Given the description of an element on the screen output the (x, y) to click on. 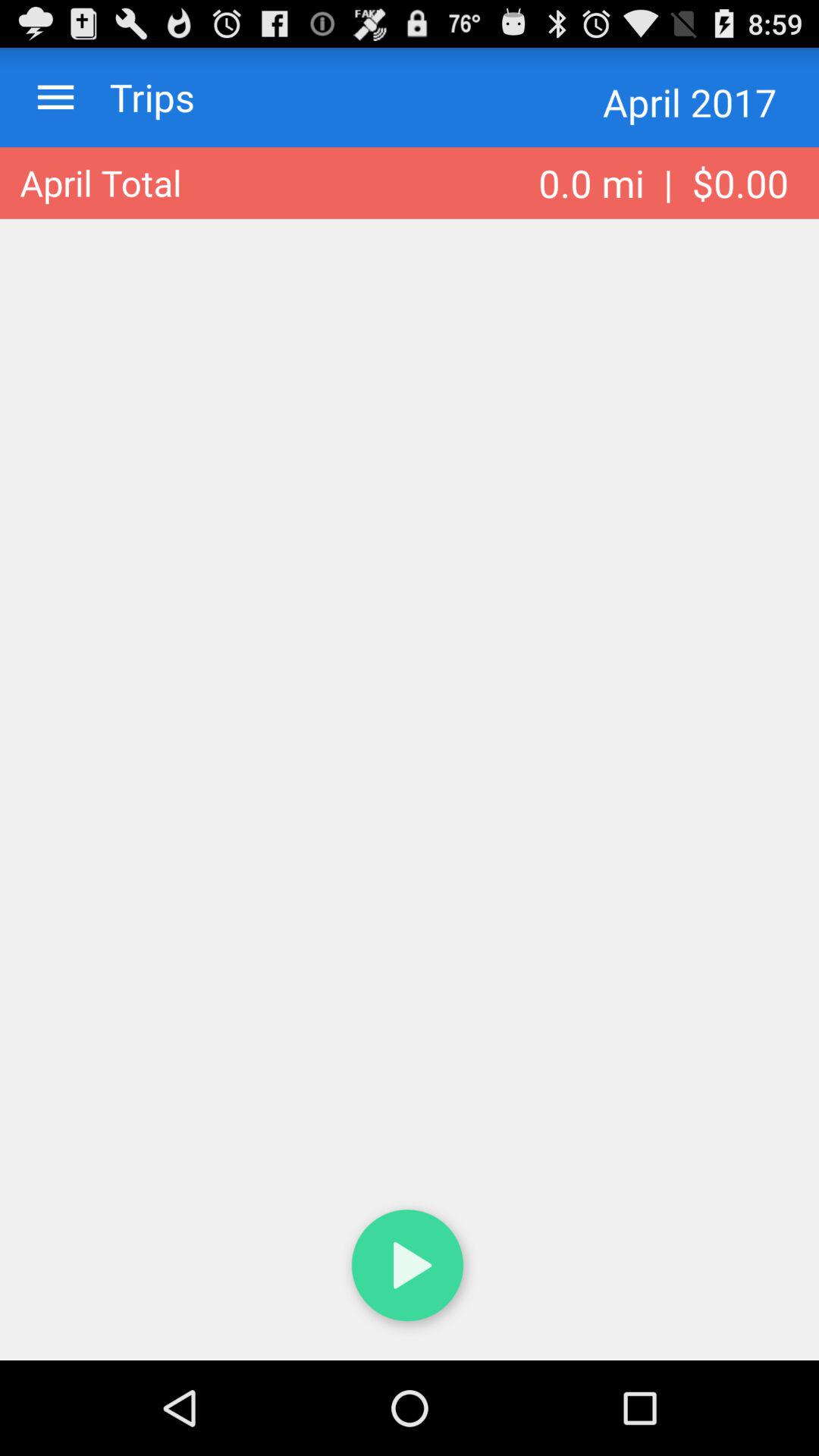
flip until trips item (137, 96)
